Given the description of an element on the screen output the (x, y) to click on. 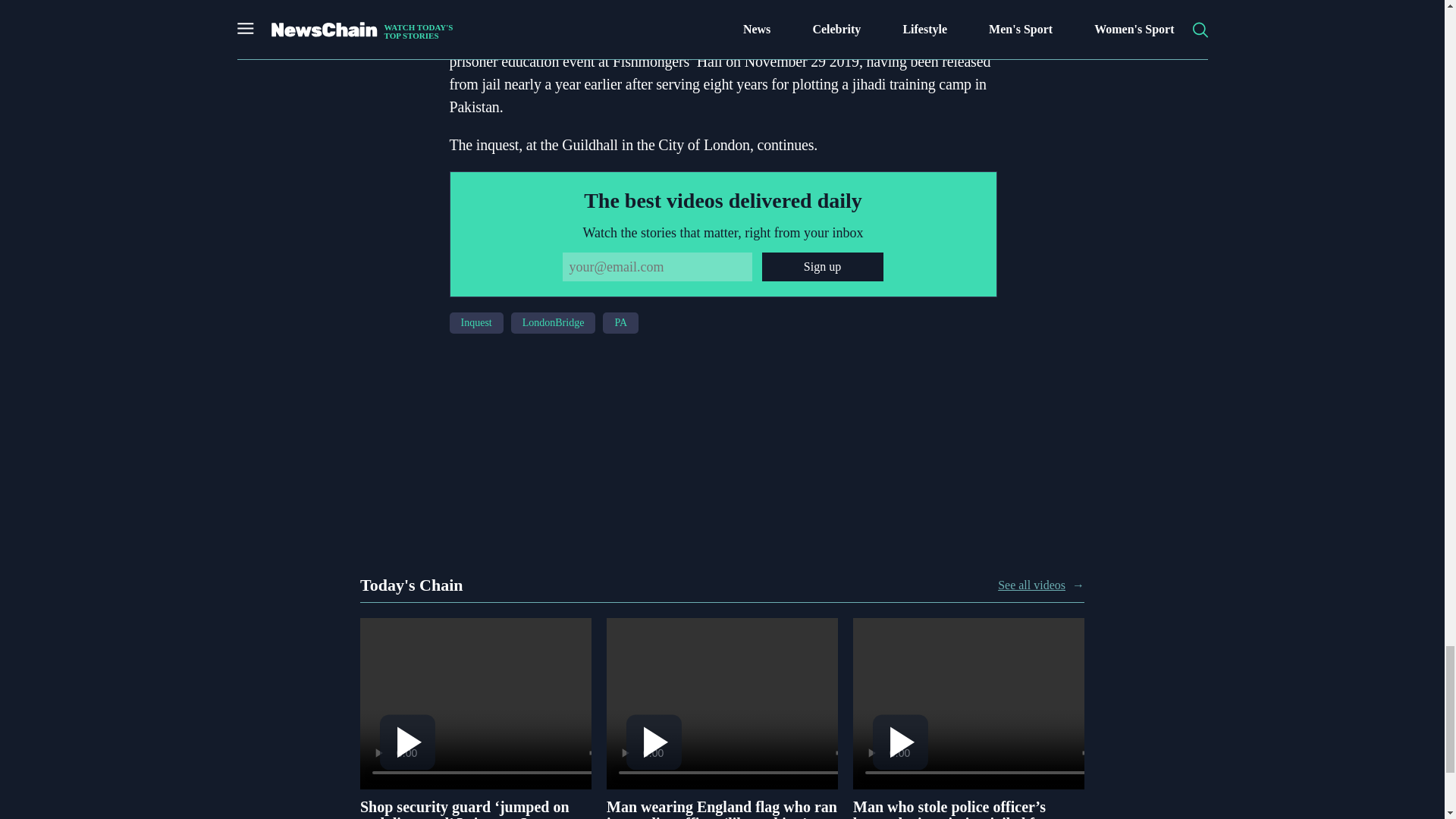
PA (620, 322)
Sign up (822, 266)
Sign up (822, 266)
See all videos (1031, 585)
LondonBridge (553, 322)
Inquest (475, 322)
